Given the description of an element on the screen output the (x, y) to click on. 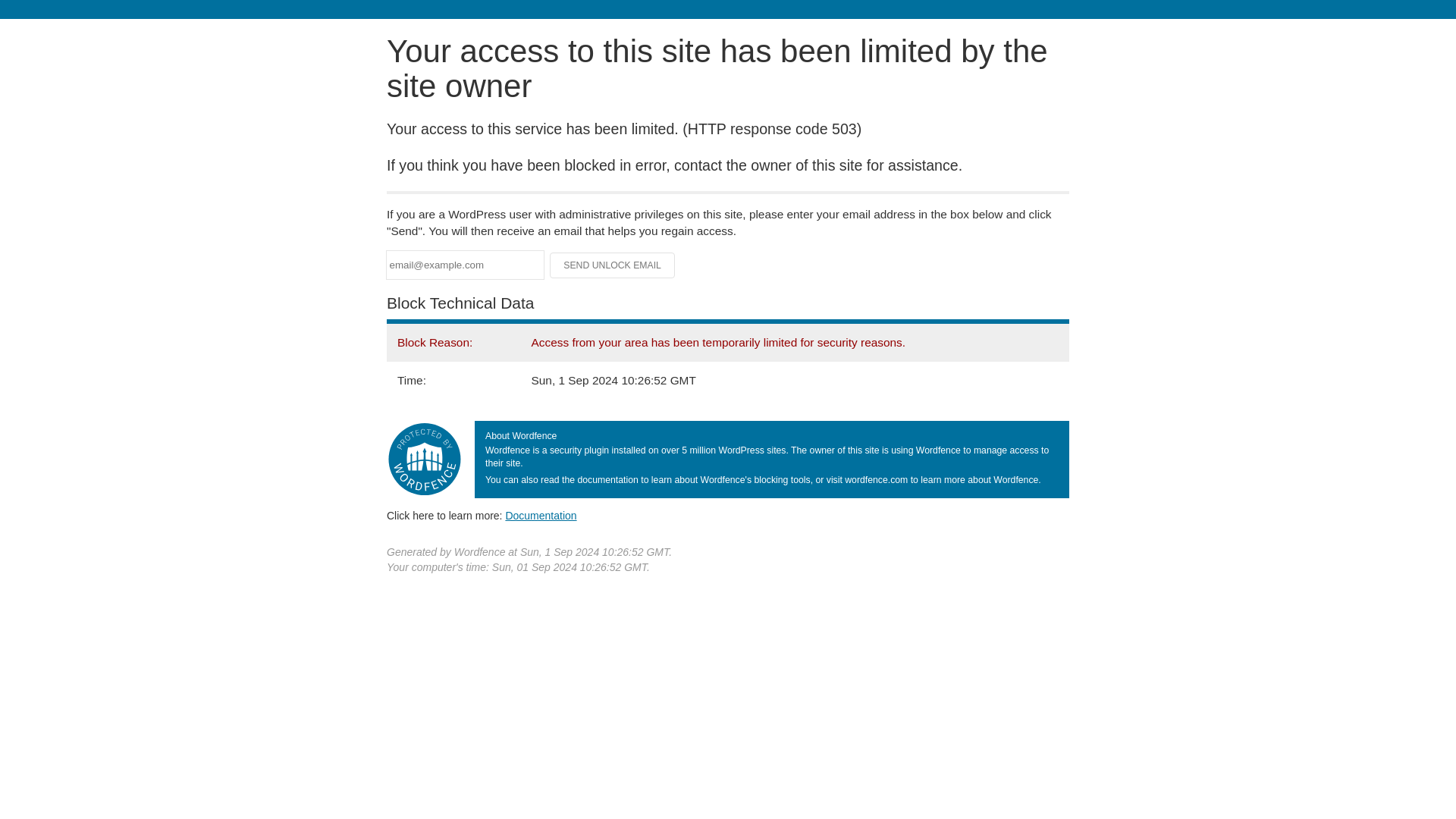
Send Unlock Email (612, 265)
Documentation (540, 515)
Send Unlock Email (612, 265)
